Given the description of an element on the screen output the (x, y) to click on. 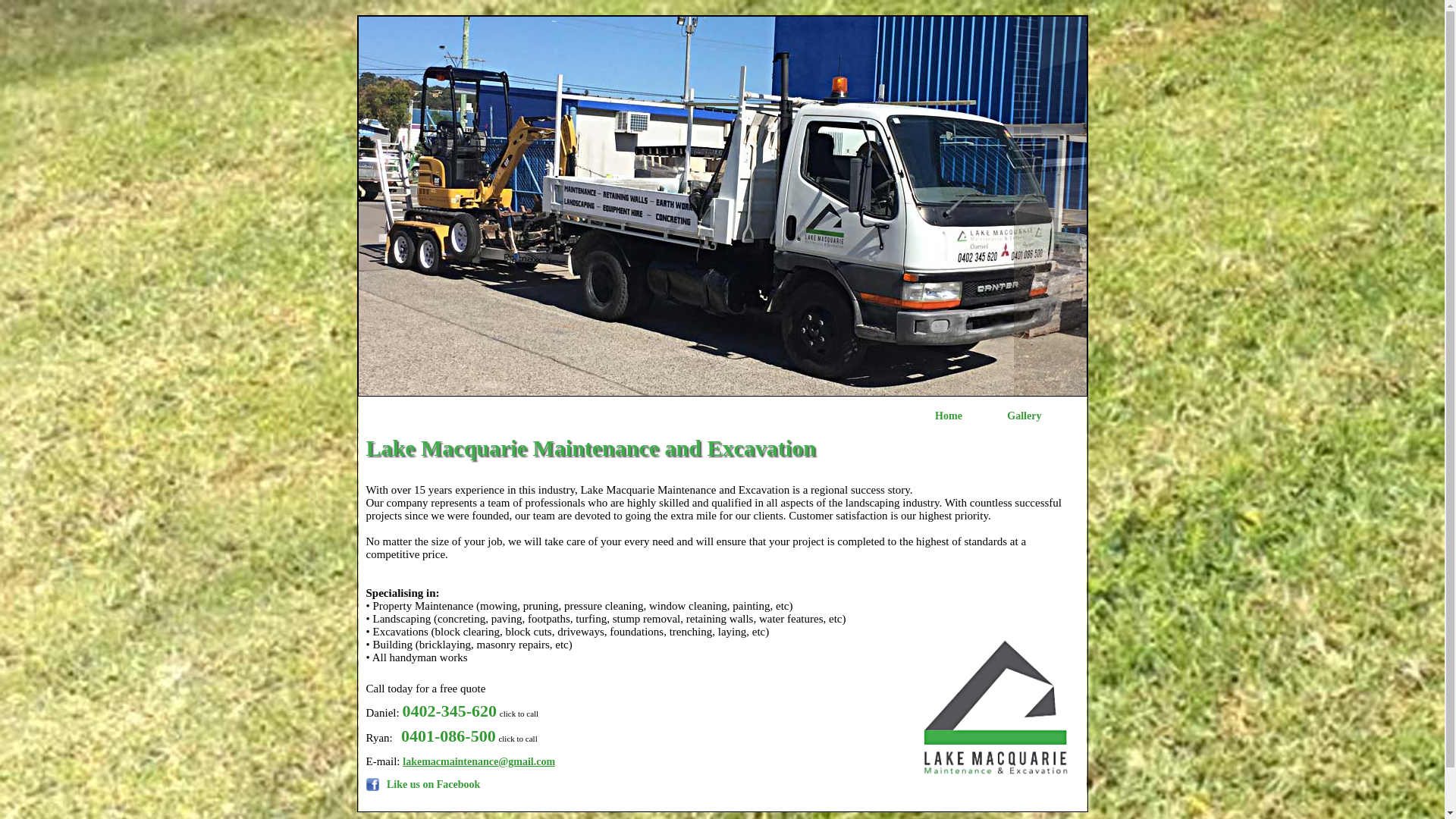
0402-345-620 Element type: text (448, 710)
Gallery Element type: text (1024, 415)
Home Element type: text (948, 415)
lakemacmaintenance@gmail.com Element type: text (478, 761)
0401-086-500 Element type: text (448, 735)
  Like us on Facebook Element type: text (422, 787)
